Given the description of an element on the screen output the (x, y) to click on. 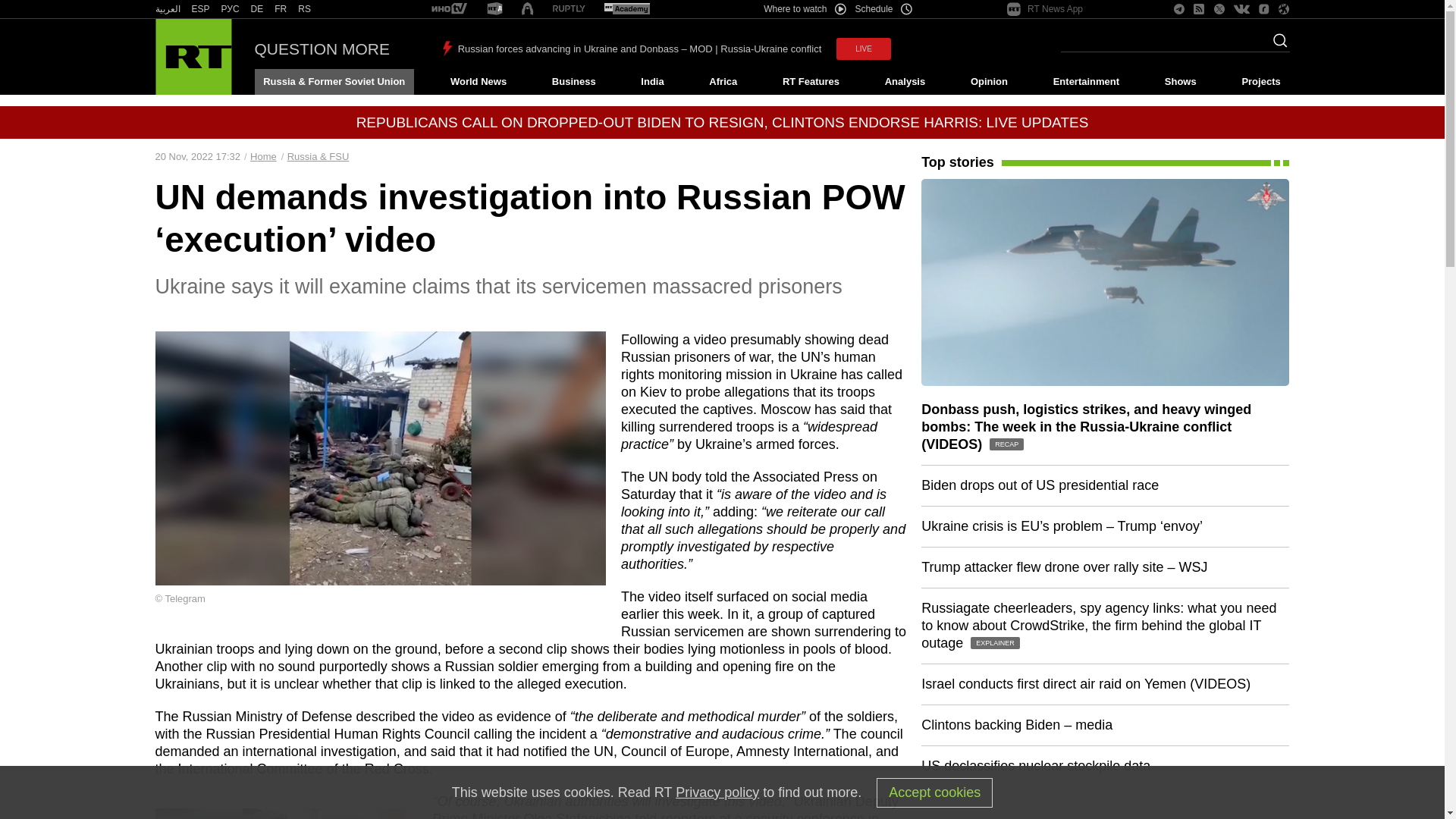
RT News App (1045, 9)
DE (256, 9)
Entertainment (1085, 81)
RT  (256, 9)
RT Features (810, 81)
RT  (199, 9)
Schedule (884, 9)
Opinion (988, 81)
QUESTION MORE (322, 48)
Analysis (905, 81)
Search (1276, 44)
India (651, 81)
ESP (199, 9)
RT  (569, 8)
World News (478, 81)
